Given the description of an element on the screen output the (x, y) to click on. 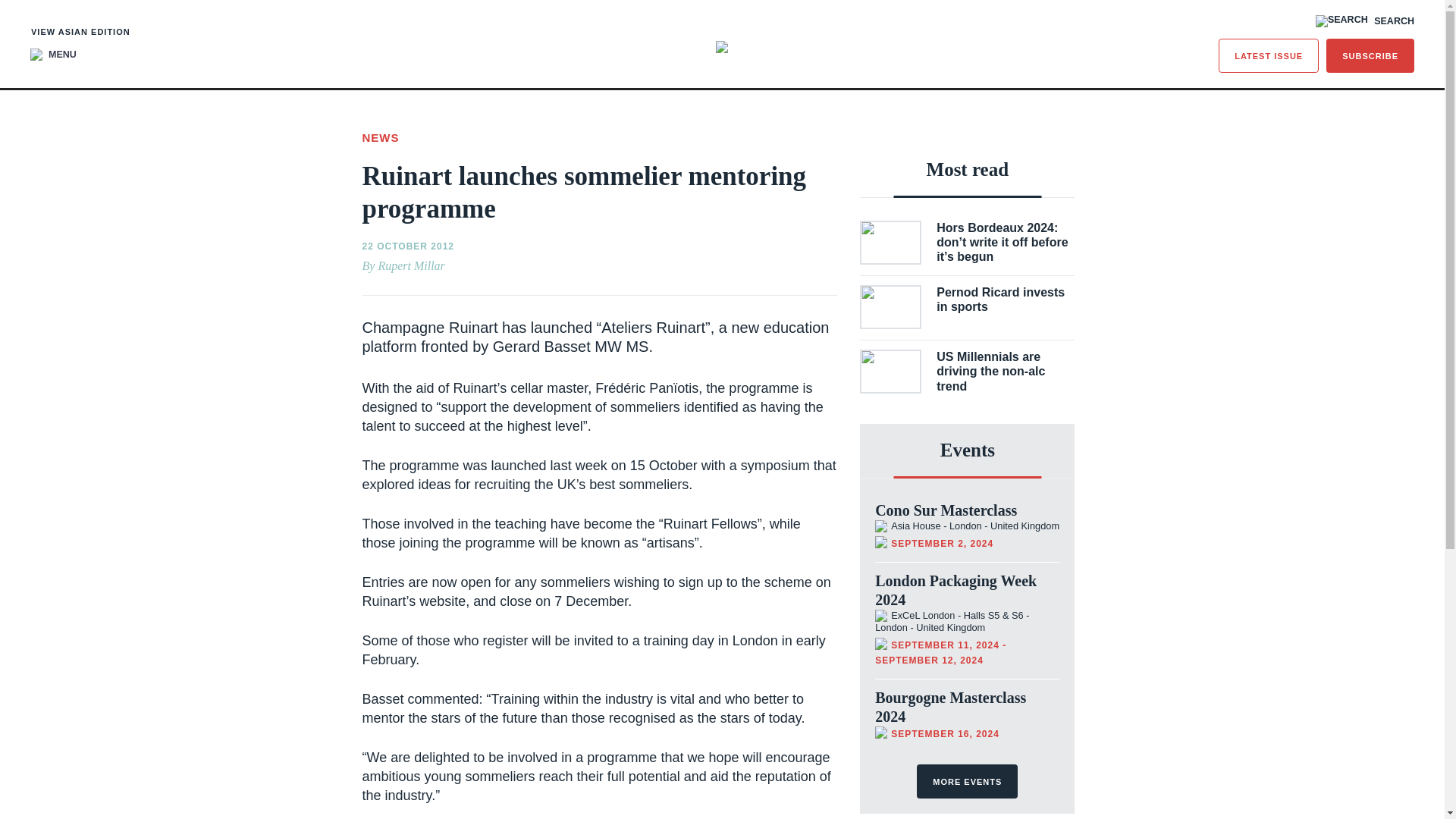
LATEST ISSUE (1268, 55)
The Drinks Business (722, 46)
MENU (53, 54)
VIEW ASIAN EDITION (80, 31)
SEARCH (1364, 21)
SUBSCRIBE (1369, 55)
